Given the description of an element on the screen output the (x, y) to click on. 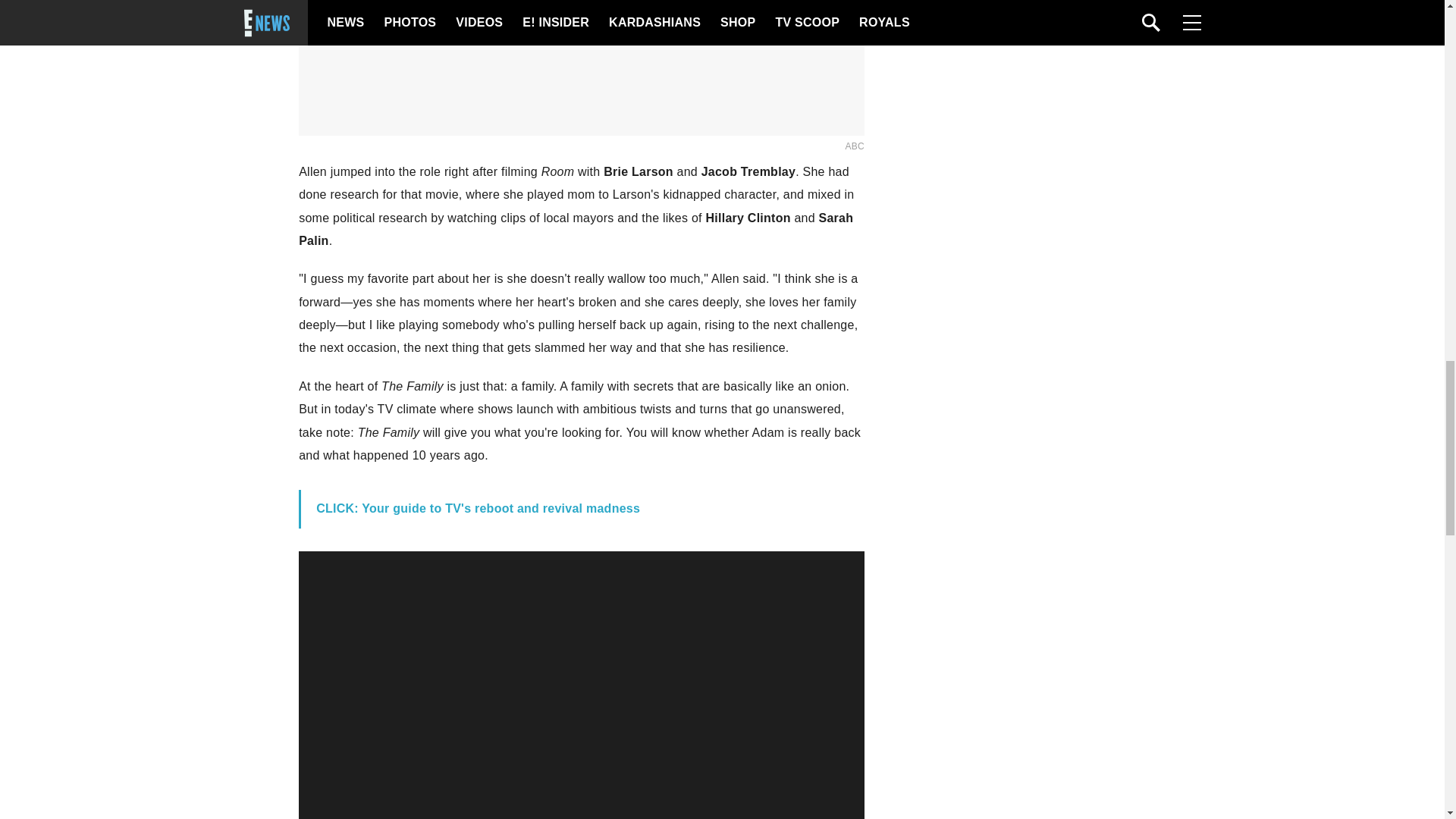
CLICK: Your guide to TV's reboot and revival madness (477, 508)
